Given the description of an element on the screen output the (x, y) to click on. 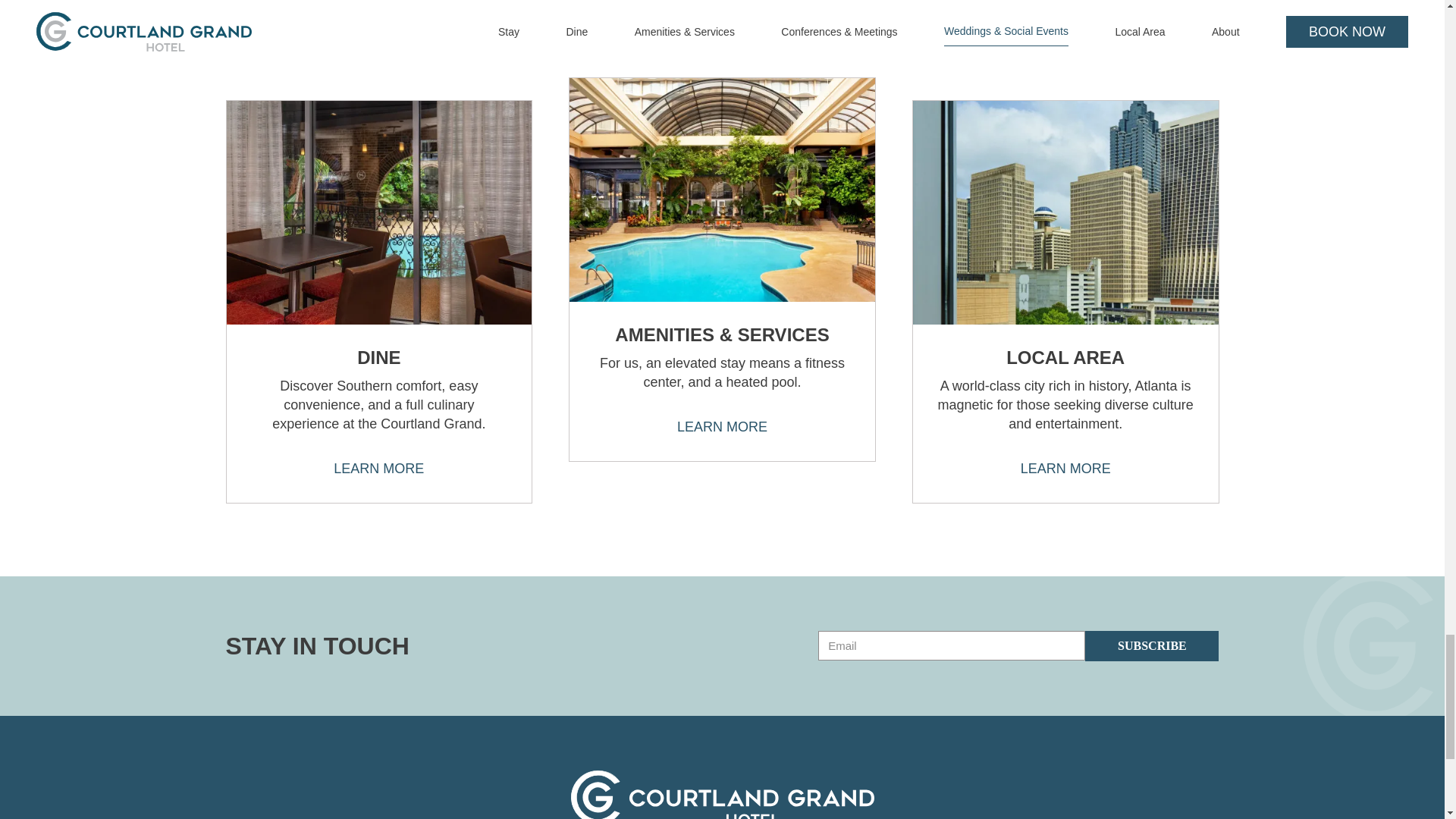
Subscribe (1151, 645)
